Given the description of an element on the screen output the (x, y) to click on. 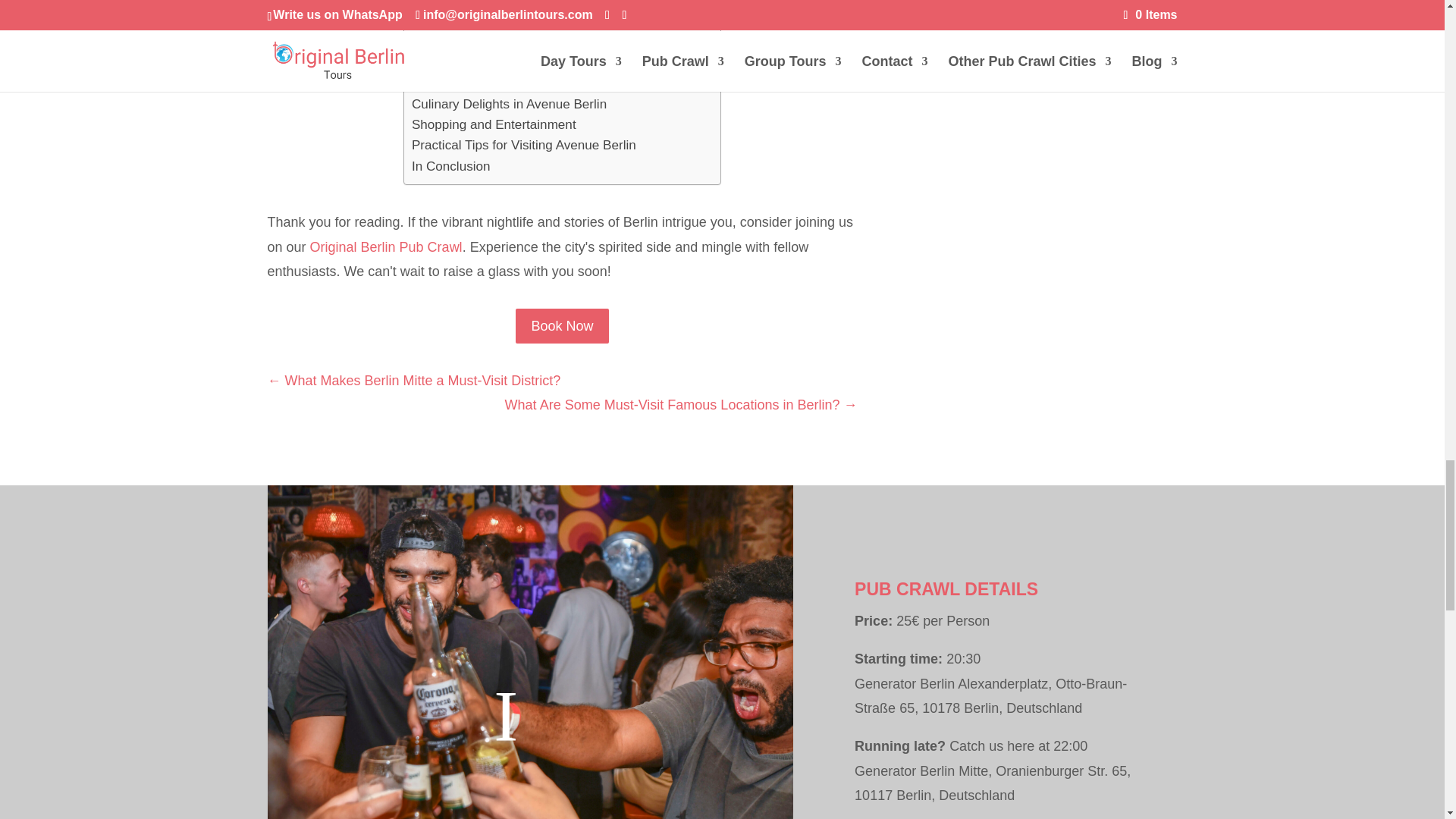
Culinary Delights in Avenue Berlin (509, 104)
Museum Island (455, 62)
Practical Tips for Visiting Avenue Berlin (524, 145)
Shopping and Entertainment (494, 124)
Brandenburg Gate (465, 41)
The History and Culture of Mitte (503, 5)
Alexanderplatz (454, 82)
In Conclusion (451, 166)
